Given the description of an element on the screen output the (x, y) to click on. 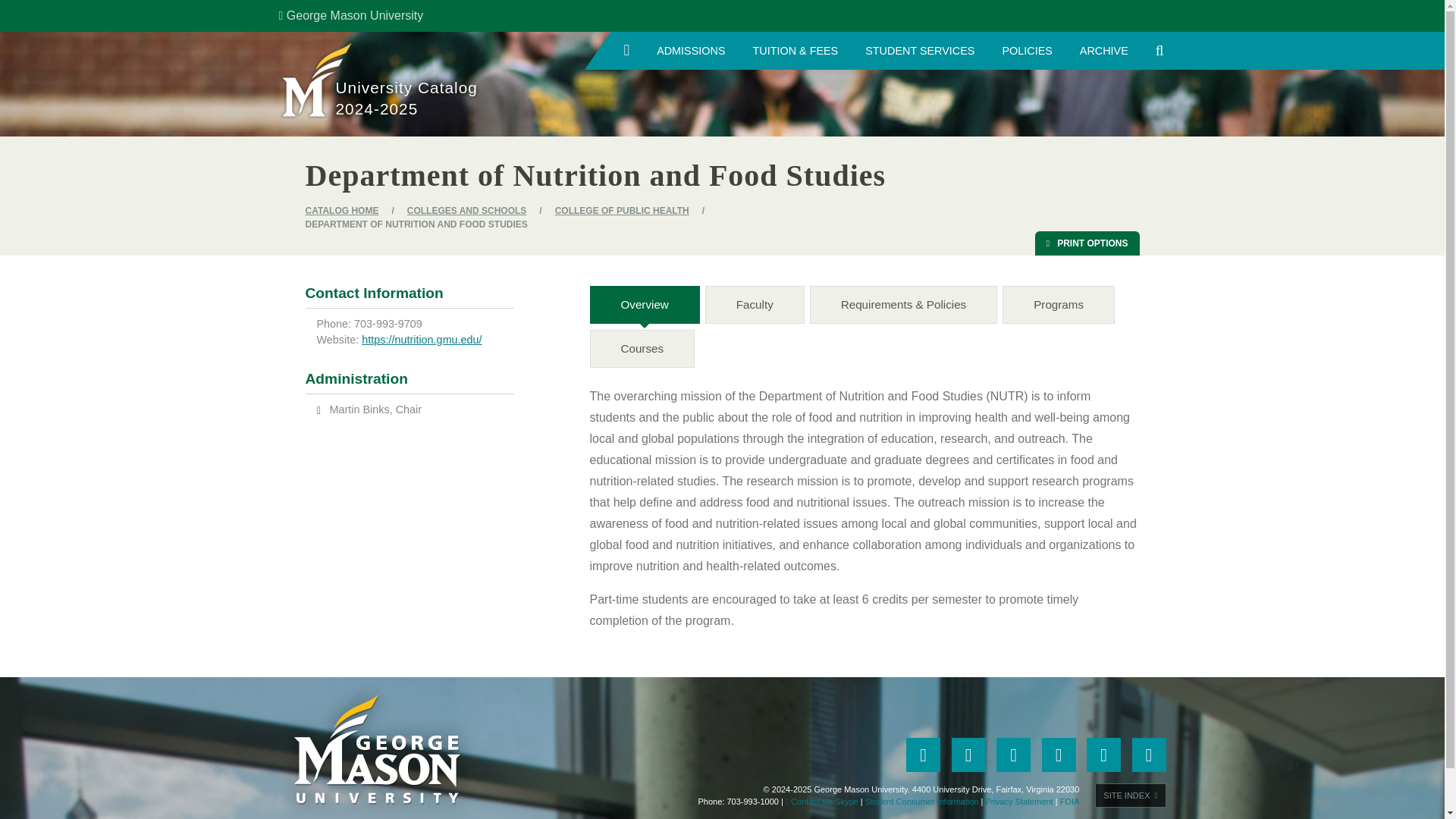
PRINT OPTIONS (1087, 242)
POLICIES (1026, 50)
George Mason University (351, 15)
COLLEGE OF PUBLIC HEALTH (621, 210)
ADMISSIONS (690, 50)
STUDENT SERVICES (919, 50)
SEARCH CATALOG (1159, 50)
CATALOG HOME (341, 210)
COLLEGES AND SCHOOLS (467, 210)
ARCHIVE (1103, 50)
